Given the description of an element on the screen output the (x, y) to click on. 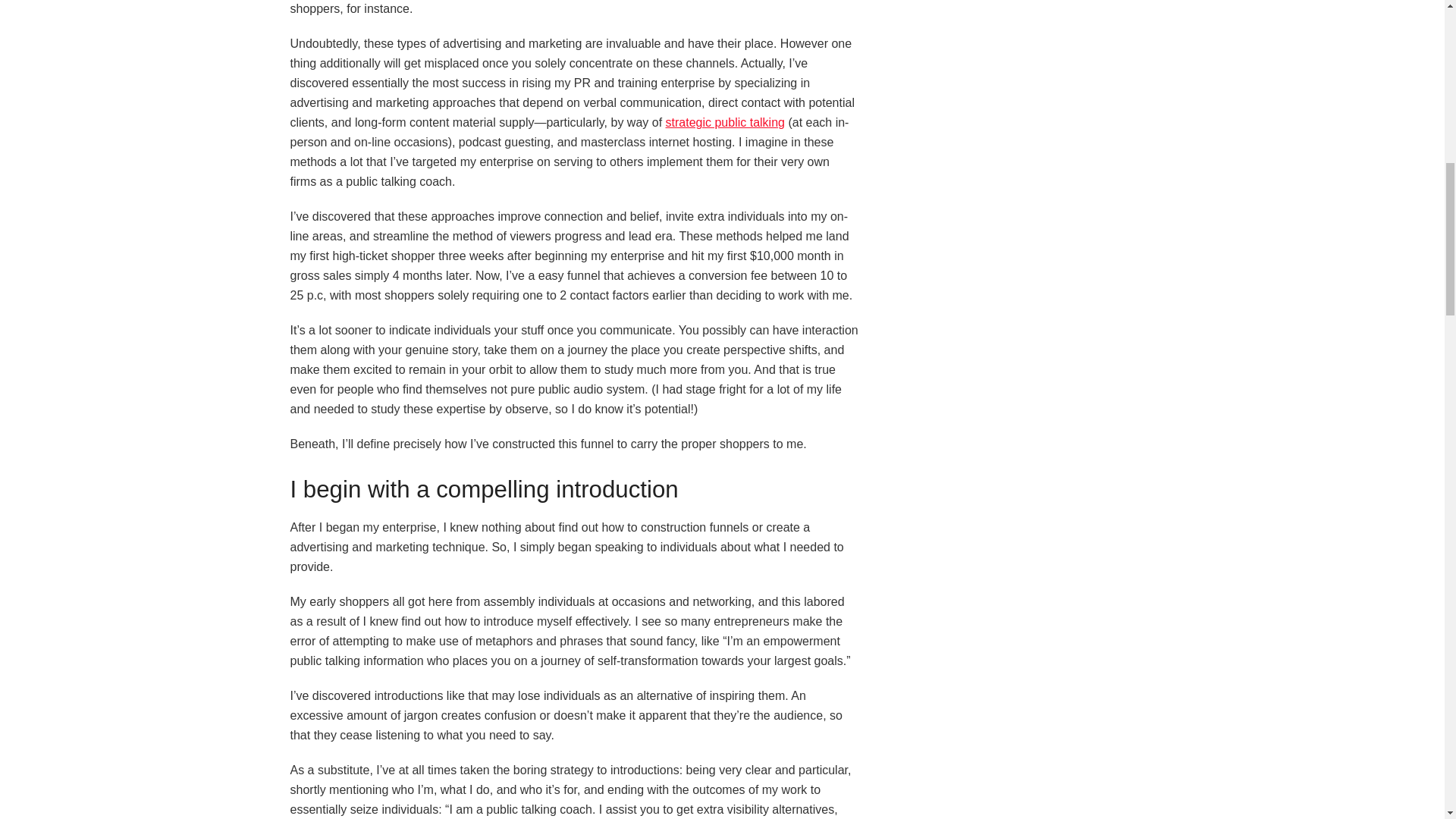
strategic public talking (724, 122)
